Given the description of an element on the screen output the (x, y) to click on. 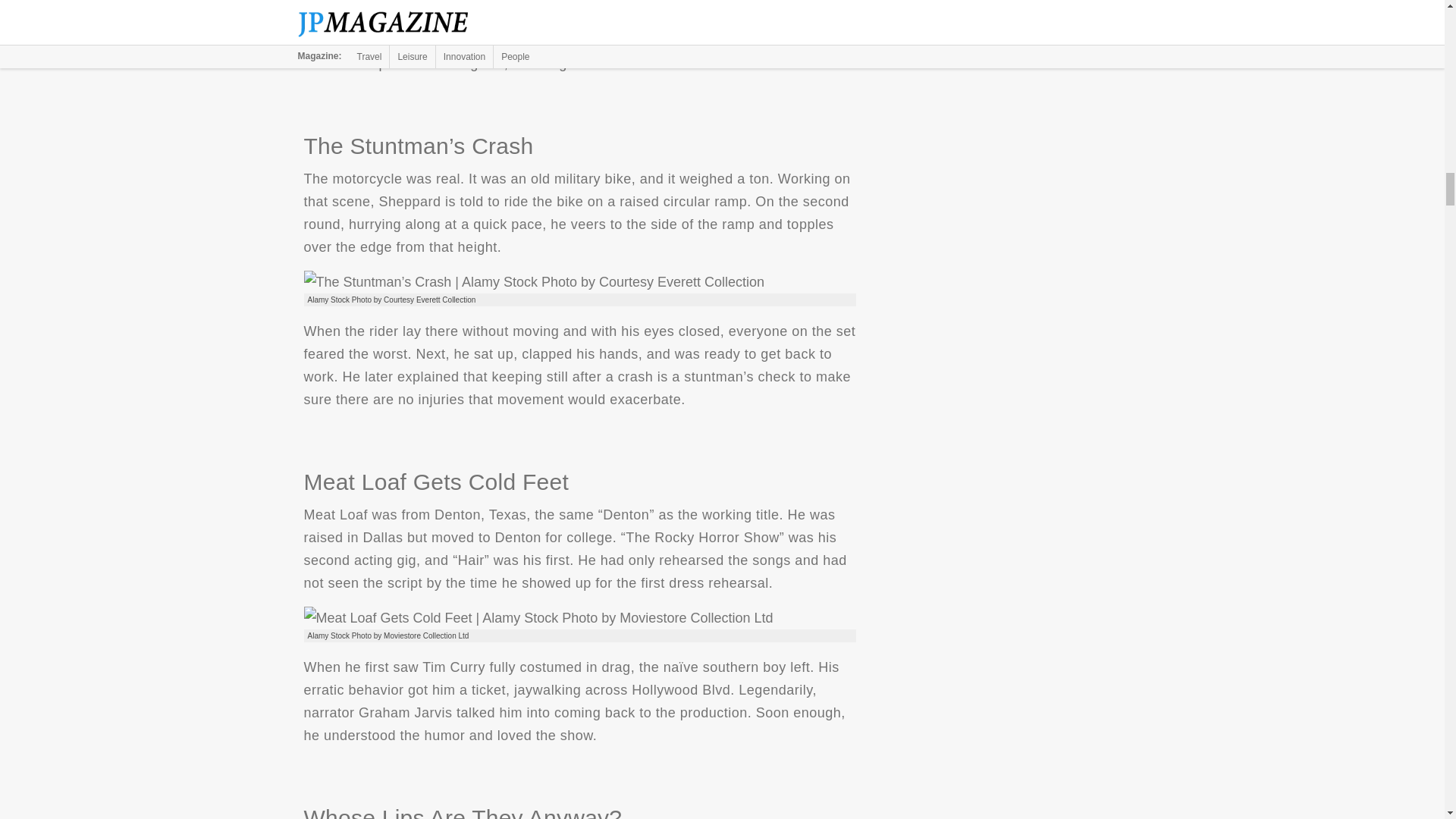
Meat Loaf Gets Cold Feet (537, 617)
